Given the description of an element on the screen output the (x, y) to click on. 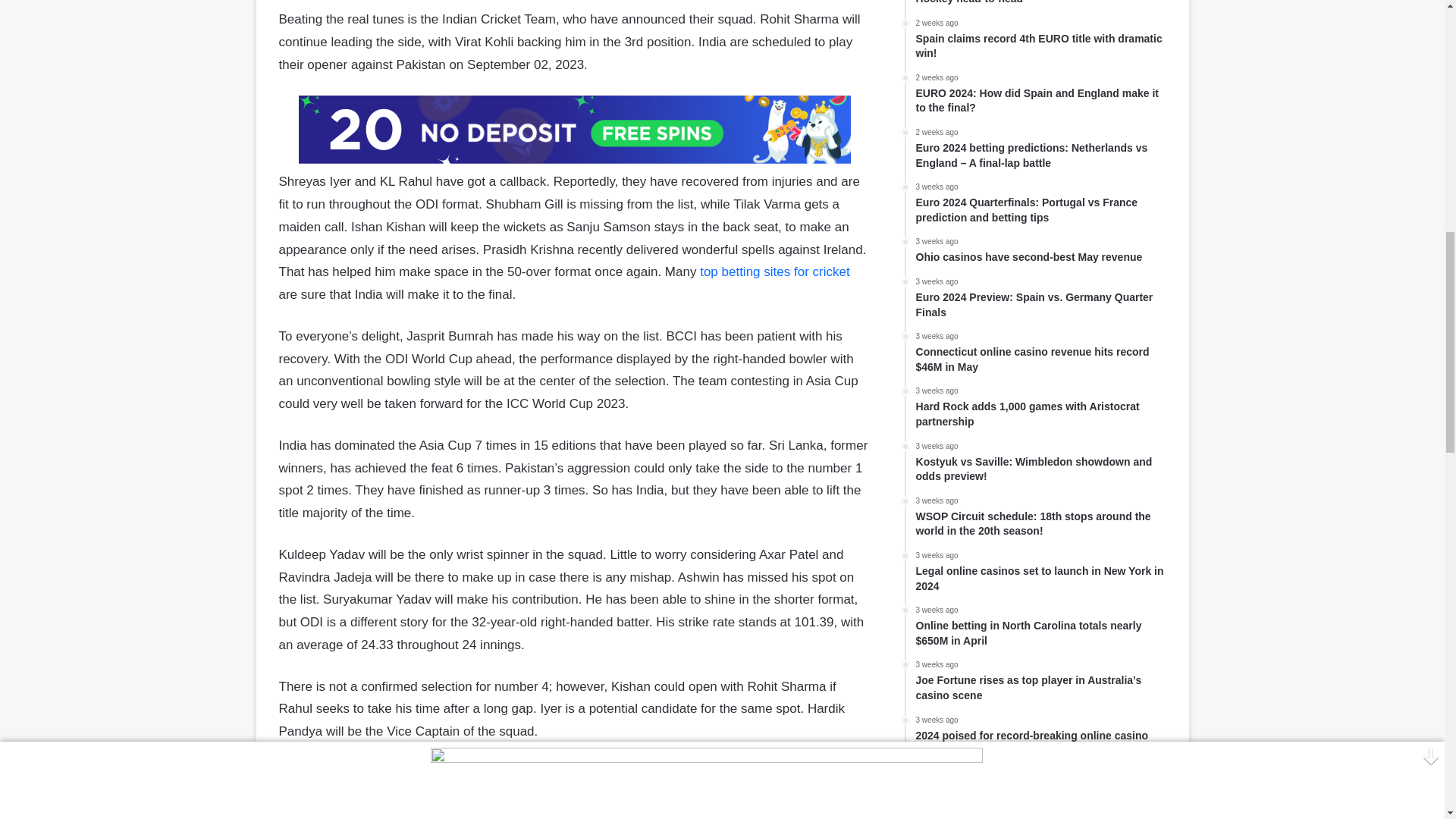
Wild.io (574, 129)
